Given the description of an element on the screen output the (x, y) to click on. 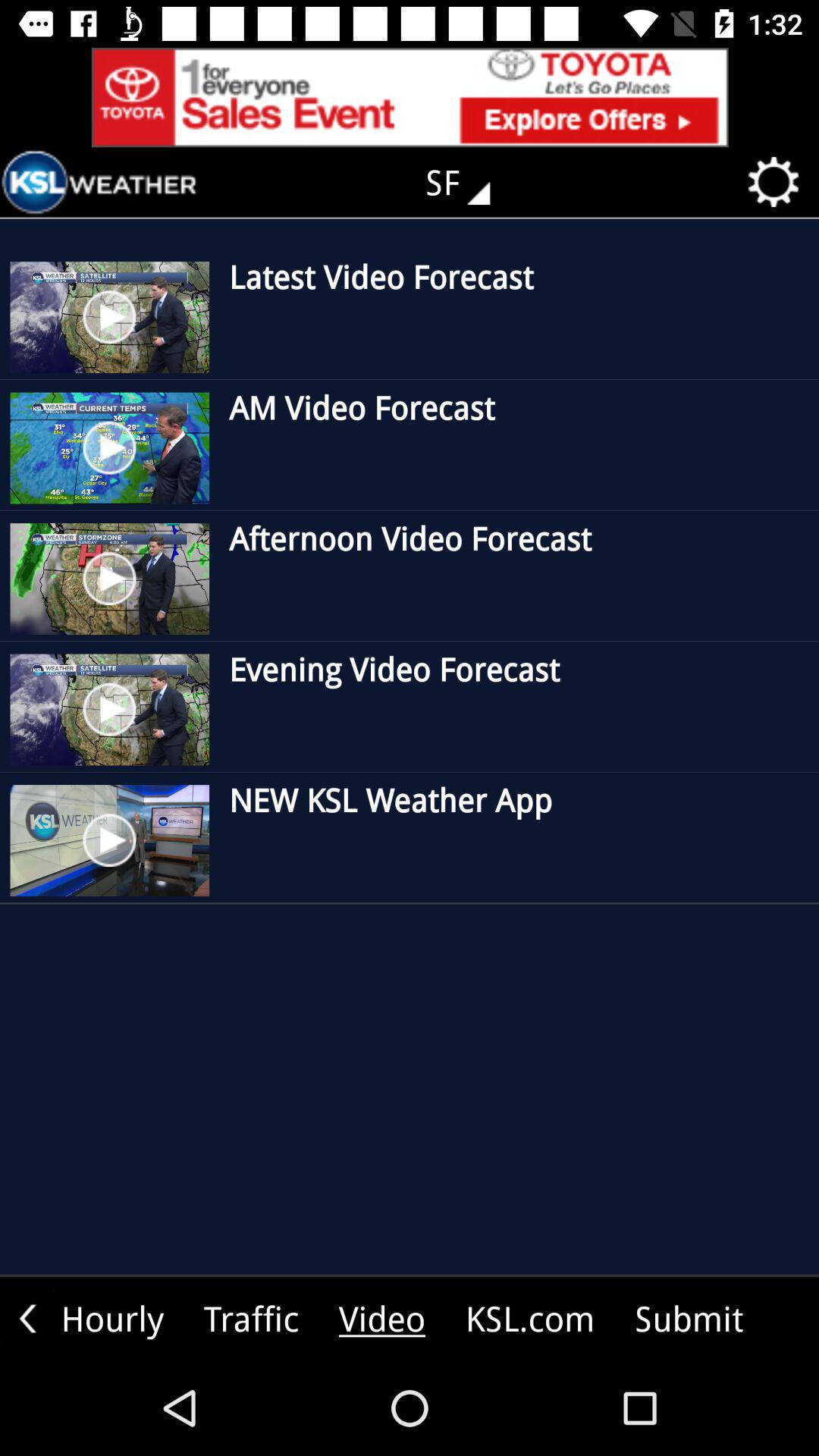
go to homepage (99, 182)
